Given the description of an element on the screen output the (x, y) to click on. 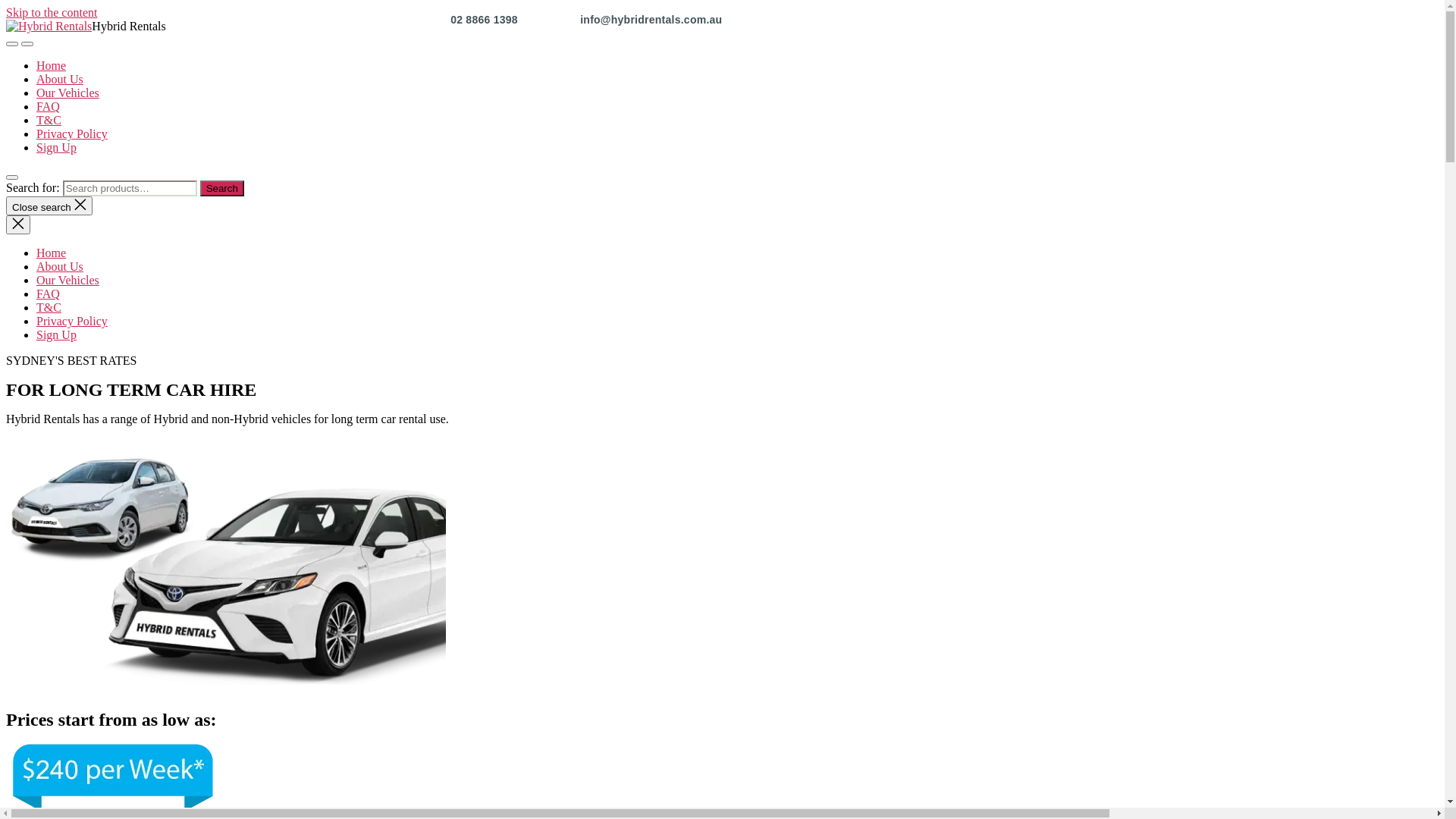
Privacy Policy Element type: text (71, 133)
Home Element type: text (50, 65)
T&C Element type: text (48, 307)
Our Vehicles Element type: text (67, 279)
Home Element type: text (50, 252)
Our Vehicles Element type: text (67, 92)
Close search Element type: text (49, 205)
FAQ Element type: text (47, 293)
Skip to the content Element type: text (51, 12)
02 8866 1398 Element type: text (485, 19)
Privacy Policy Element type: text (71, 320)
Sign Up Element type: text (56, 147)
About Us Element type: text (59, 266)
Sign Up Element type: text (56, 334)
Search Element type: text (222, 188)
About Us Element type: text (59, 78)
T&C Element type: text (48, 119)
info@hybridrentals.com.au Element type: text (650, 19)
FAQ Element type: text (47, 106)
